Given the description of an element on the screen output the (x, y) to click on. 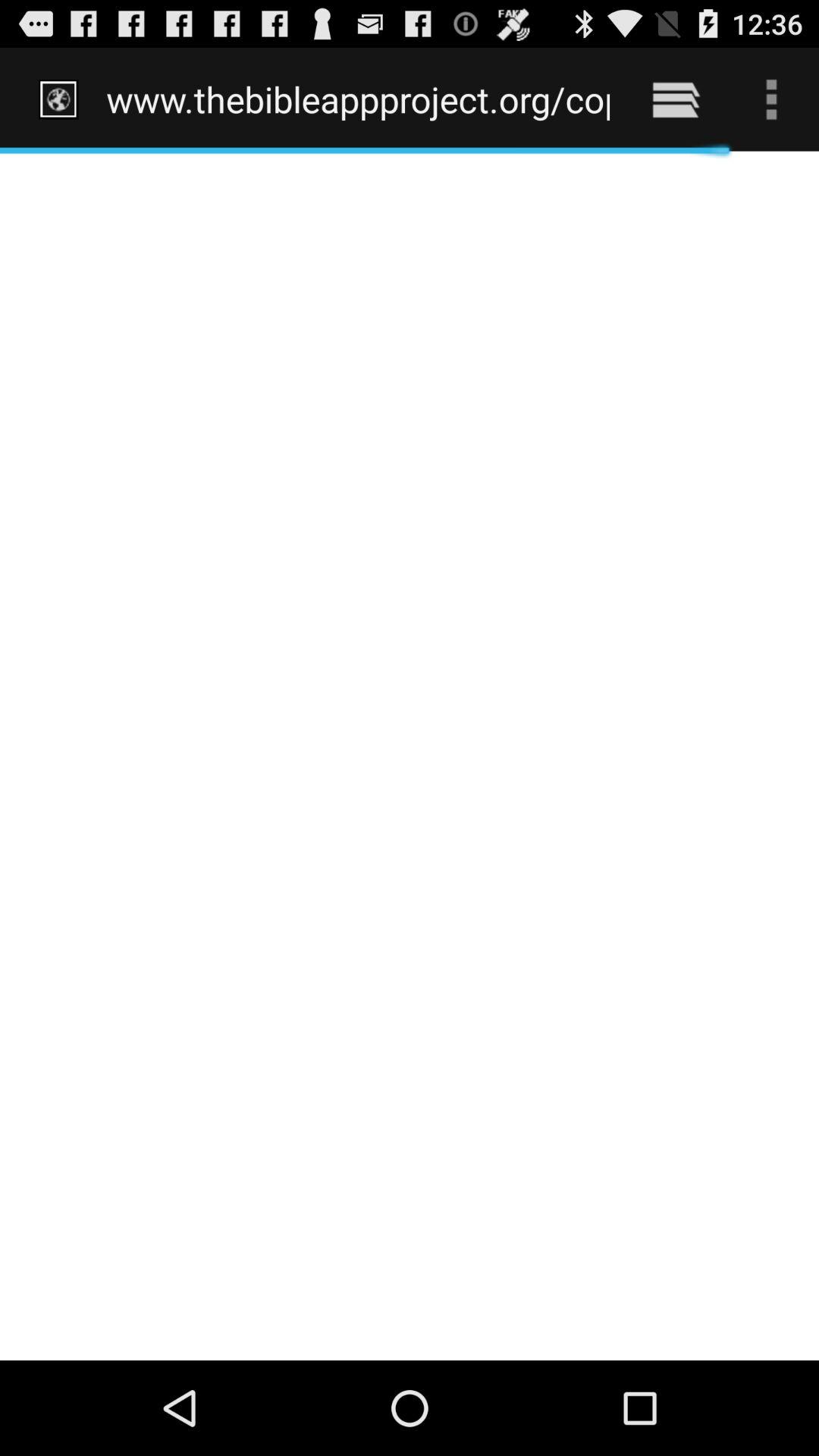
open the www thebibleappproject org (357, 99)
